Given the description of an element on the screen output the (x, y) to click on. 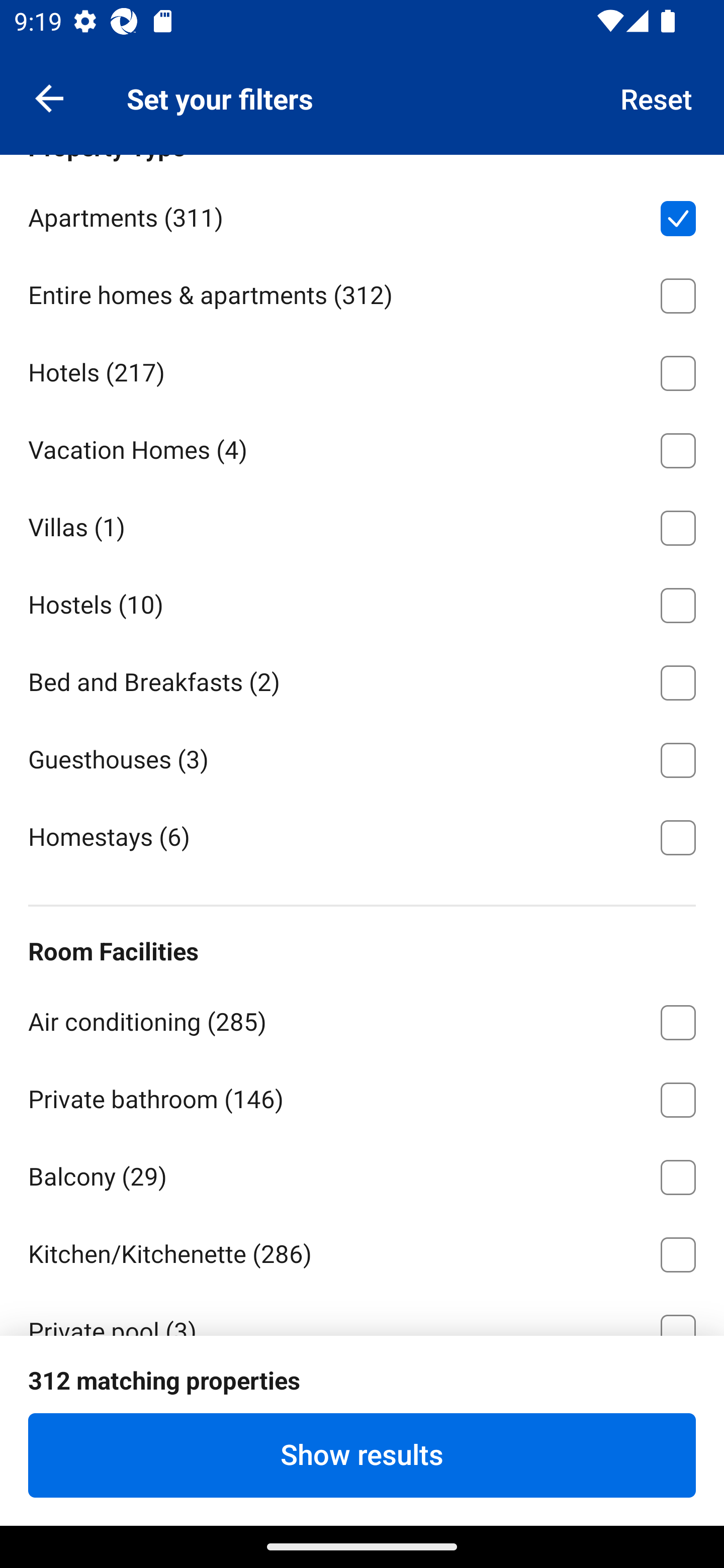
Navigate up (49, 97)
Reset (656, 97)
Apartments ⁦(311) (361, 214)
Entire homes & apartments ⁦(312) (361, 292)
Hotels ⁦(217) (361, 369)
Vacation Homes ⁦(4) (361, 447)
Villas ⁦(1) (361, 524)
Hostels ⁦(10) (361, 601)
Bed and Breakfasts ⁦(2) (361, 679)
Guesthouses ⁦(3) (361, 756)
Homestays ⁦(6) (361, 835)
Air conditioning ⁦(285) (361, 1019)
Private bathroom ⁦(146) (361, 1096)
Balcony ⁦(29) (361, 1173)
Kitchen/Kitchenette ⁦(286) (361, 1251)
Show results (361, 1454)
